Given the description of an element on the screen output the (x, y) to click on. 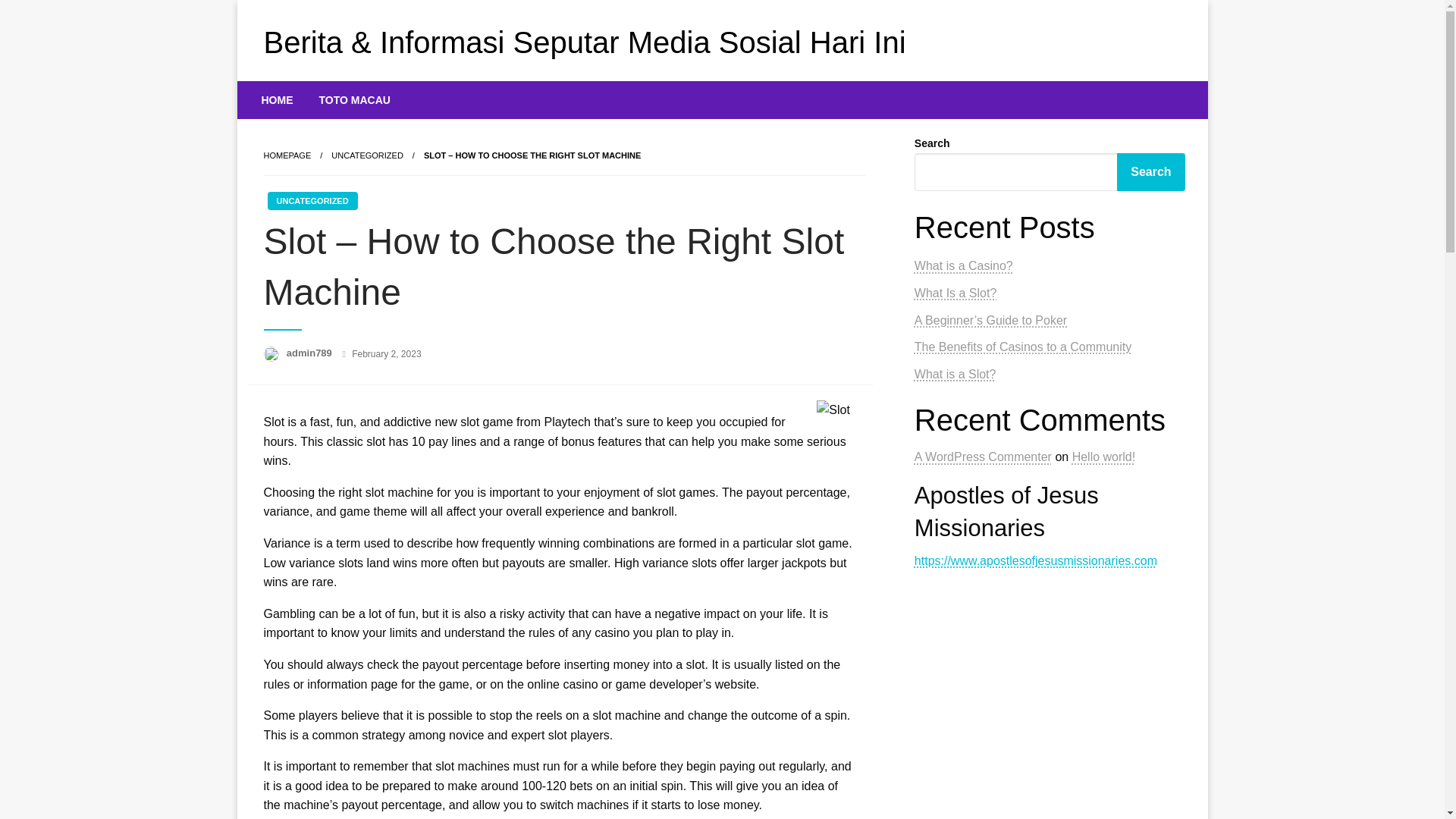
What is a Slot? (954, 373)
HOME (276, 99)
Hello world! (1103, 456)
Search (1150, 171)
The Benefits of Casinos to a Community (1022, 346)
February 2, 2023 (386, 353)
Homepage (287, 154)
Uncategorized (367, 154)
TOTO MACAU (354, 99)
What is a Casino? (963, 265)
UNCATEGORIZED (367, 154)
What Is a Slot? (955, 292)
UNCATEGORIZED (311, 200)
admin789 (310, 352)
HOMEPAGE (287, 154)
